Given the description of an element on the screen output the (x, y) to click on. 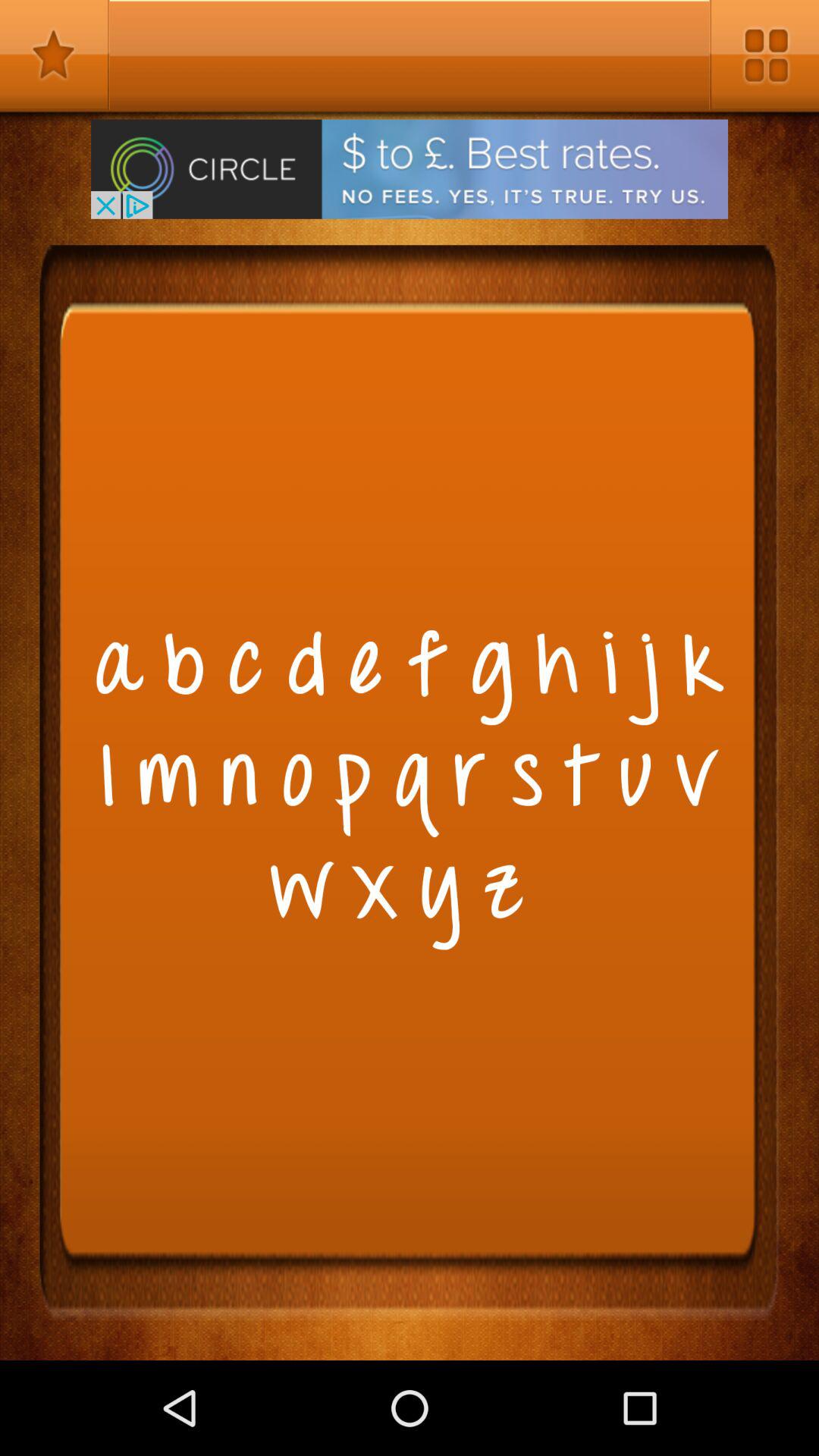
toggle to advertisement box (409, 168)
